Given the description of an element on the screen output the (x, y) to click on. 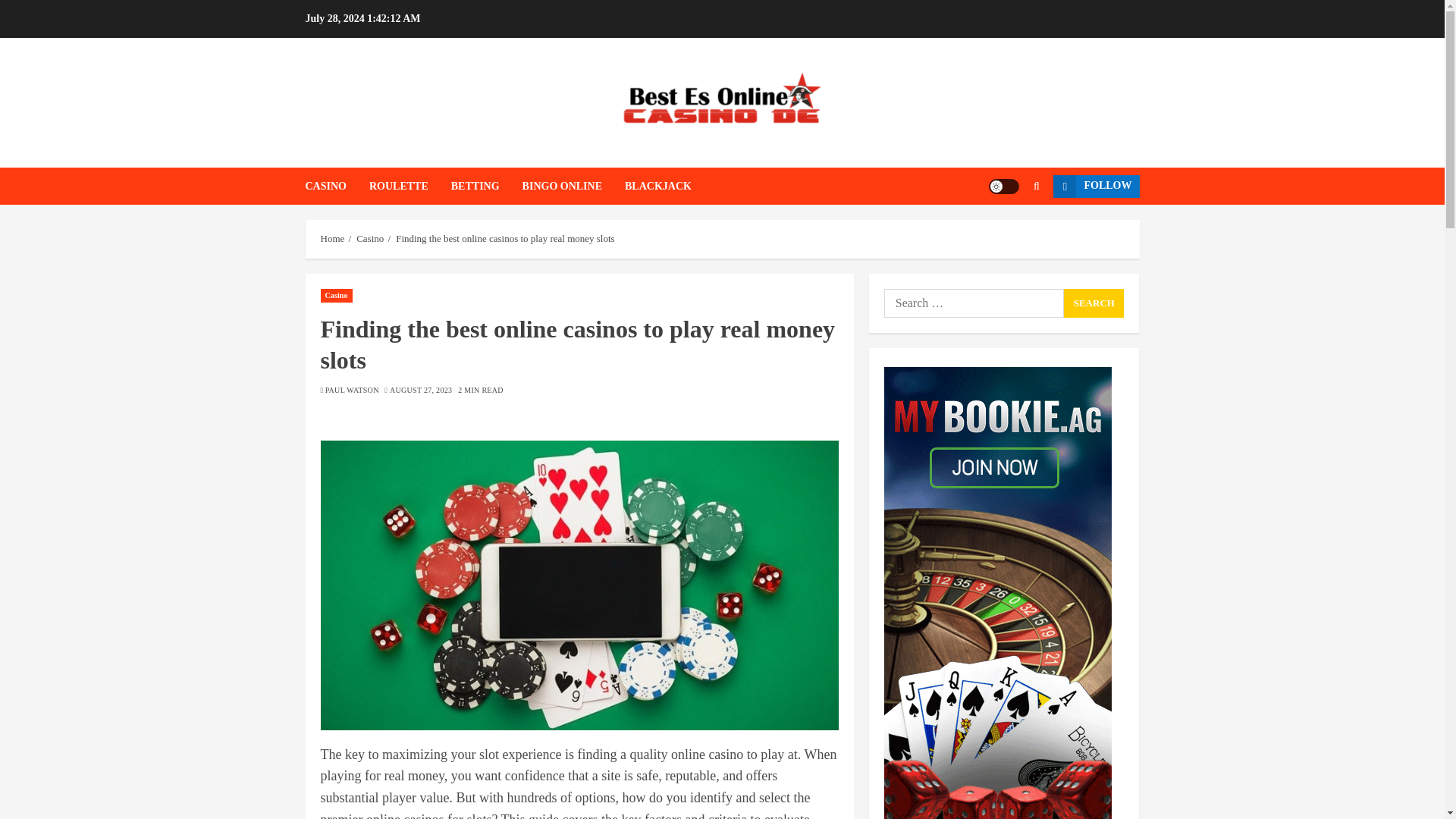
Search (1035, 185)
ROULETTE (410, 185)
Search (1006, 231)
Casino (370, 238)
BLACKJACK (657, 185)
AUGUST 27, 2023 (420, 389)
CASINO (336, 185)
Search (1094, 303)
BETTING (486, 185)
FOLLOW (1095, 185)
Search (1094, 303)
Home (331, 238)
Search (1094, 303)
Casino (336, 295)
BINGO ONLINE (573, 185)
